Given the description of an element on the screen output the (x, y) to click on. 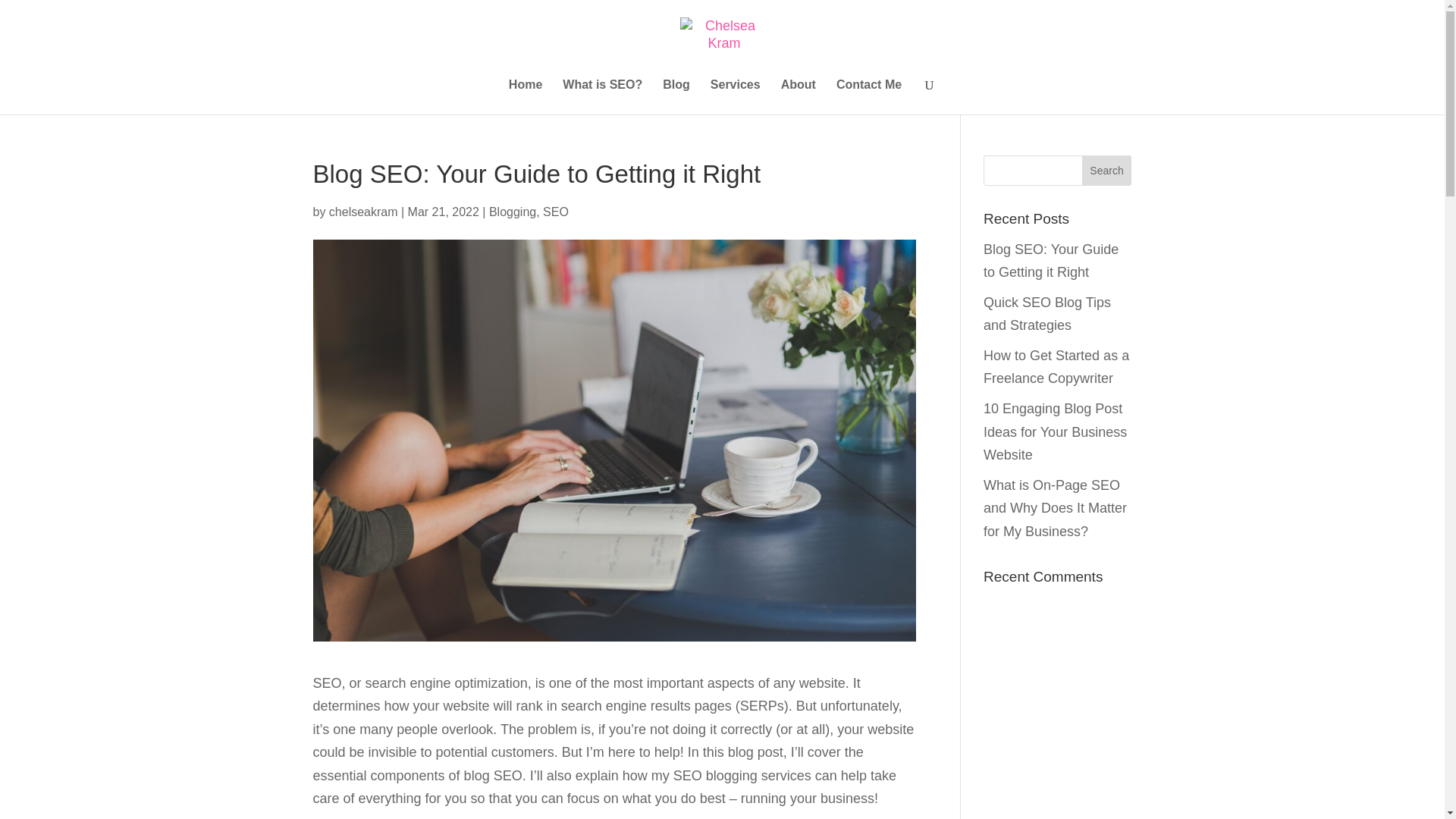
Search (1106, 170)
What is SEO? (602, 96)
What is On-Page SEO and Why Does It Matter for My Business? (1055, 507)
Quick SEO Blog Tips and Strategies (1047, 313)
Home (524, 96)
Search (1106, 170)
Services (735, 96)
About (797, 96)
SEO (556, 210)
10 Engaging Blog Post Ideas for Your Business Website (1055, 431)
